Given the description of an element on the screen output the (x, y) to click on. 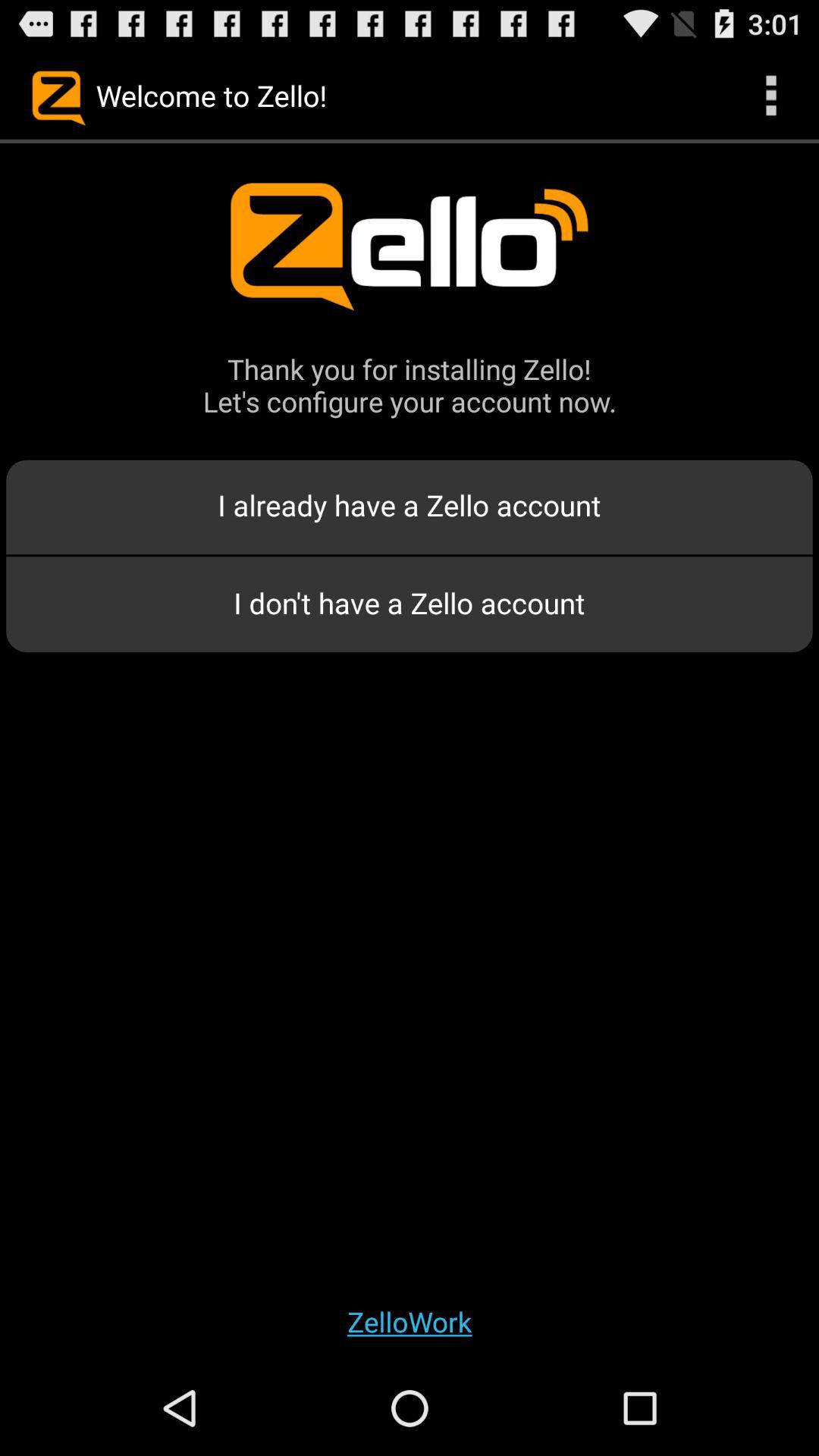
swipe to the zellowork app (409, 1321)
